Given the description of an element on the screen output the (x, y) to click on. 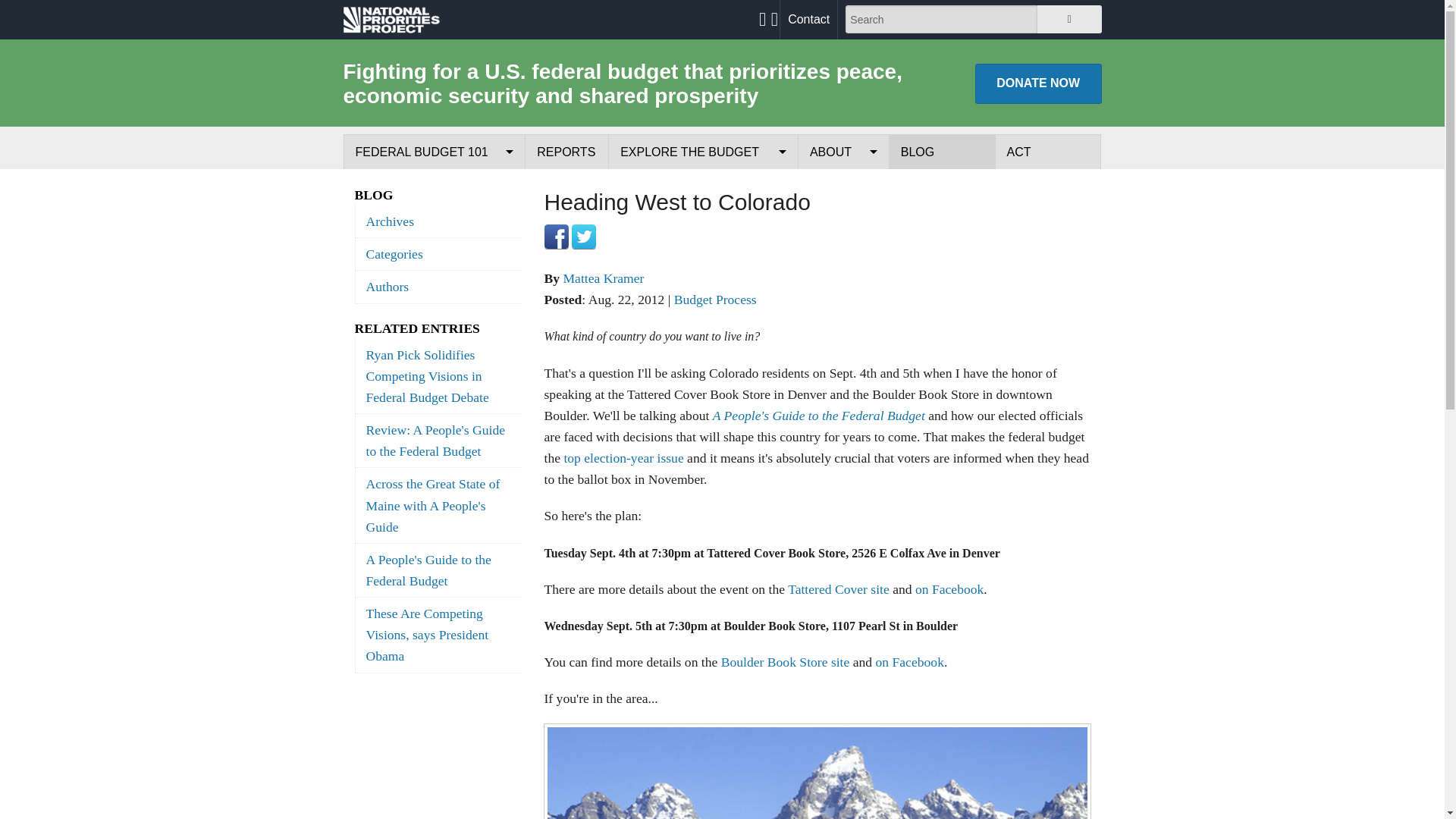
Boulder Book Store events (785, 661)
EXPLORE THE BUDGET (702, 151)
FEDERAL BUDGET 101 (434, 151)
Cost of National Security (703, 256)
Trade-Offs (703, 221)
Tools for Journalists (843, 326)
Where the Money Comes From (433, 221)
Borrowing and the Federal Debt (433, 291)
